Given the description of an element on the screen output the (x, y) to click on. 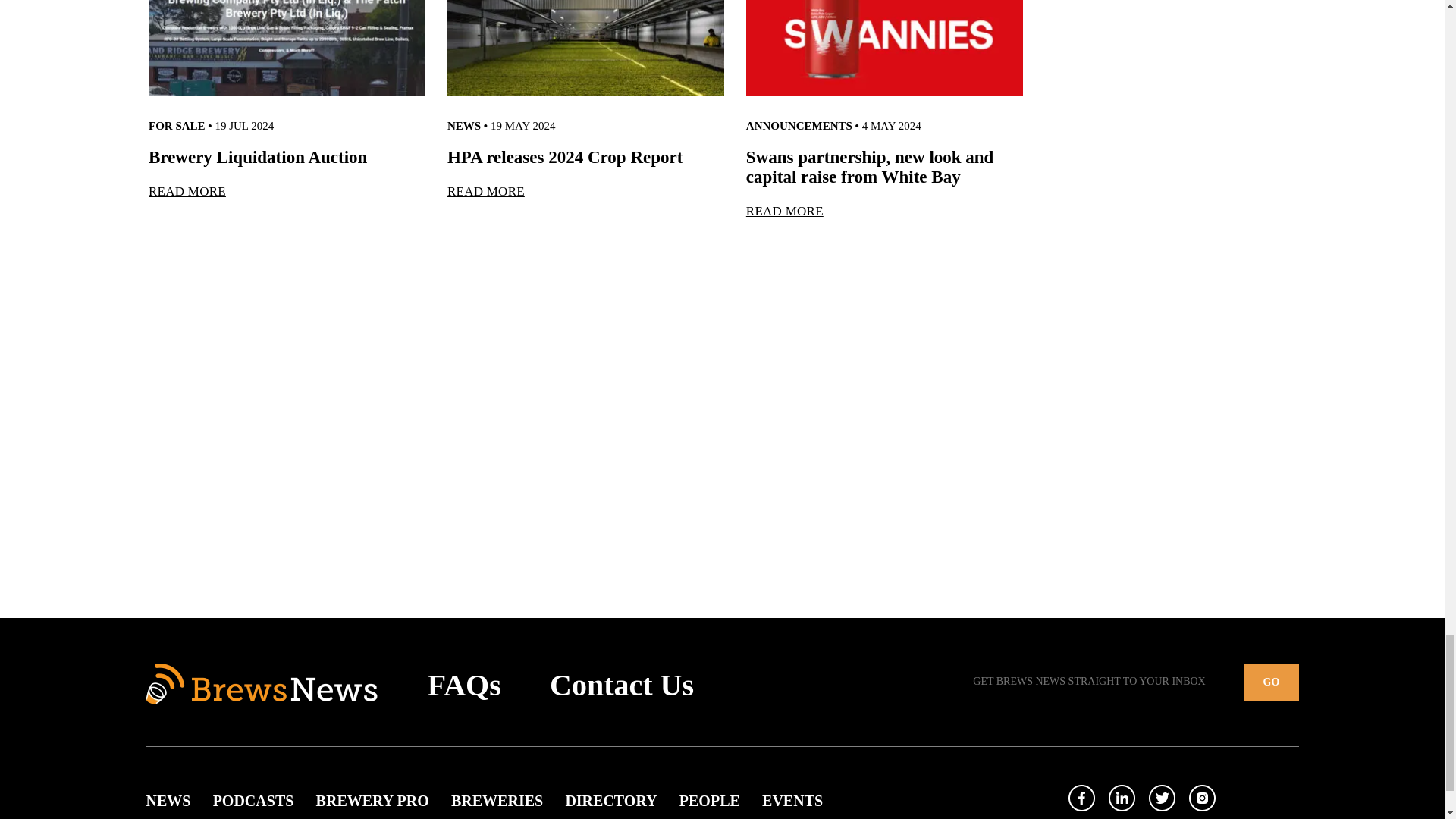
Go (1270, 682)
